Given the description of an element on the screen output the (x, y) to click on. 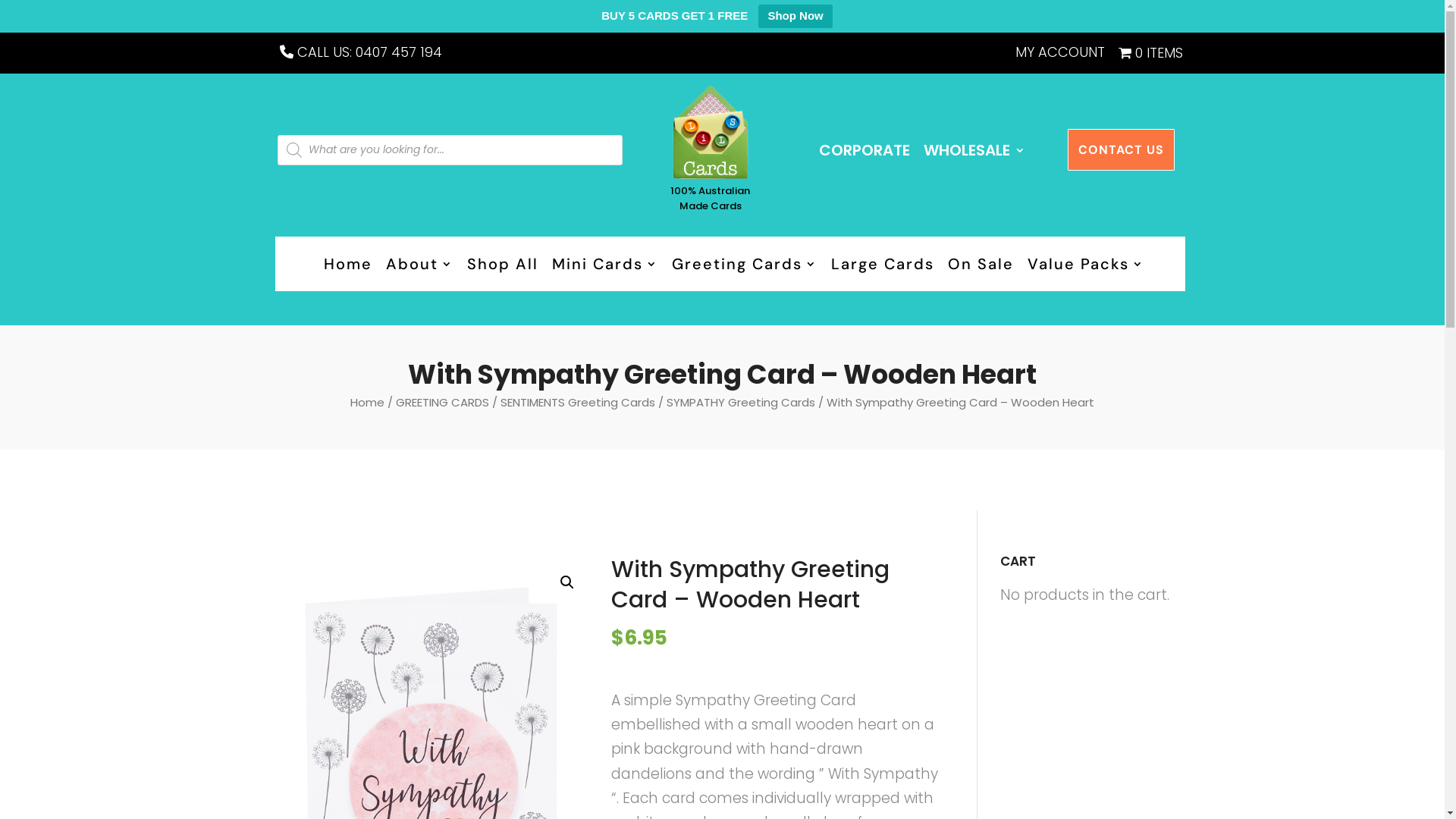
On Sale Element type: text (976, 266)
Home Element type: text (367, 402)
CONTACT US Element type: text (1120, 149)
Home Element type: text (343, 266)
Large Cards Element type: text (878, 266)
0 ITEMS Element type: text (1146, 55)
GREETING CARDS Element type: text (442, 402)
CORPORATE Element type: text (860, 152)
SENTIMENTS Greeting Cards Element type: text (577, 402)
Shop All Element type: text (498, 266)
Mini Cards Element type: text (601, 266)
0407 457 194 Element type: text (397, 51)
Shop Now Element type: text (794, 16)
WHOLESALE Element type: text (970, 152)
MY ACCOUNT Element type: text (1055, 55)
SYMPATHY Greeting Cards Element type: text (740, 402)
Greeting Cards Element type: text (740, 266)
Value Packs Element type: text (1081, 266)
About Element type: text (414, 266)
